Given the description of an element on the screen output the (x, y) to click on. 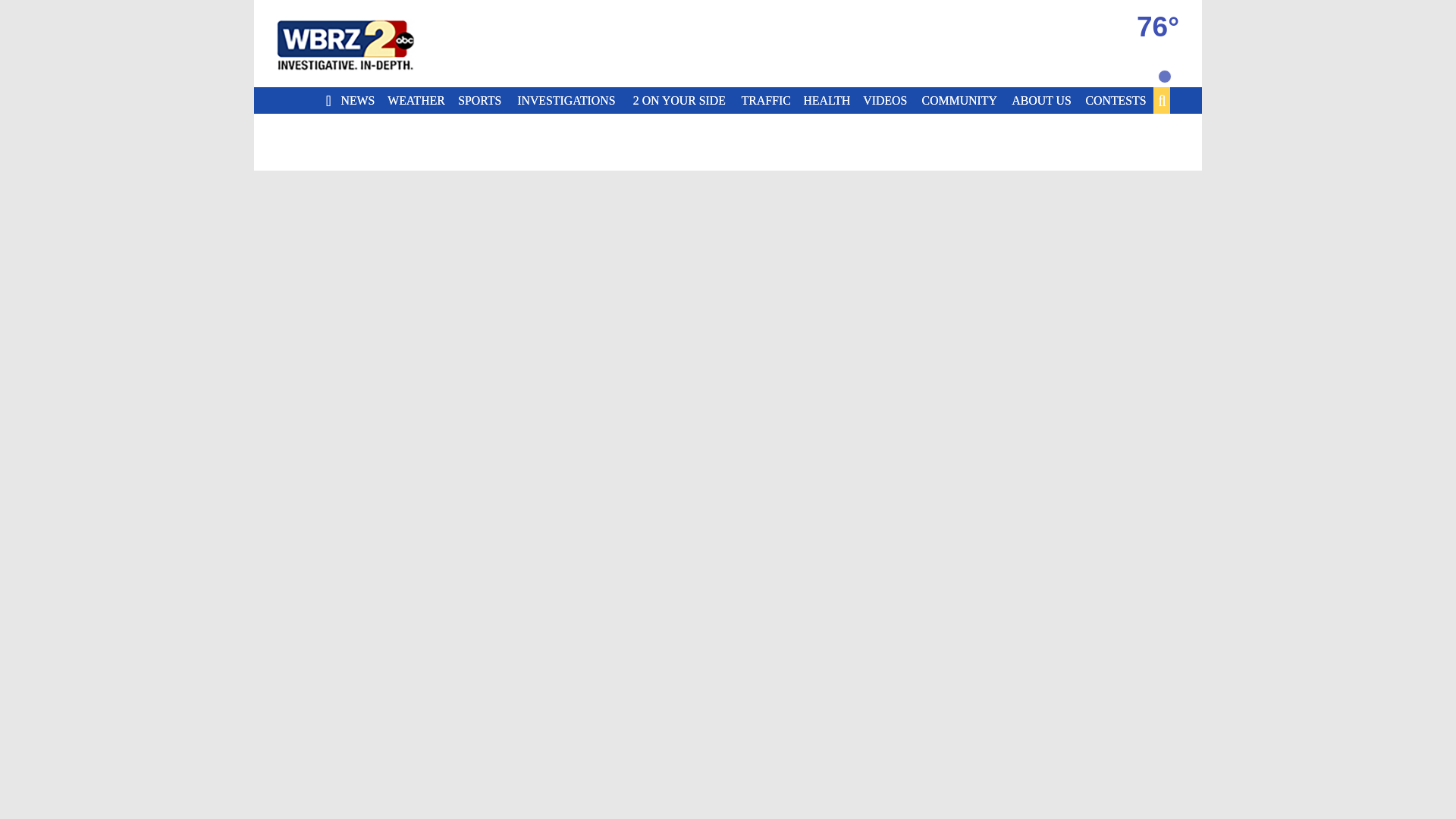
VIDEOS (887, 100)
SPORTS (482, 100)
2 ON YOUR SIDE (684, 100)
WEATHER (419, 100)
Home (363, 43)
TRAFFIC (768, 100)
NEWS (359, 100)
HEALTH (829, 100)
INVESTIGATIONS (571, 100)
